Given the description of an element on the screen output the (x, y) to click on. 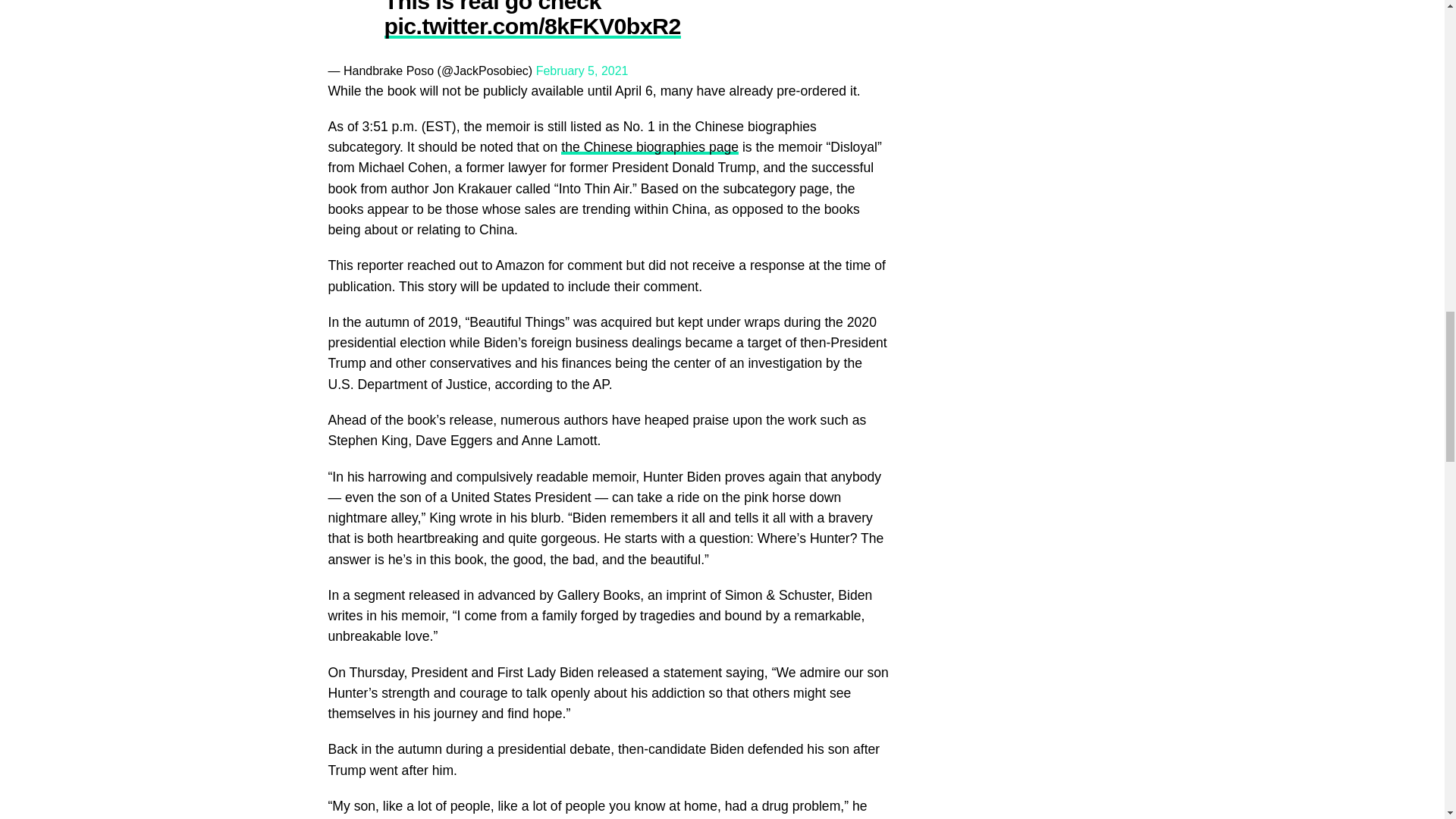
the Chinese biographies page (649, 146)
February 5, 2021 (581, 70)
